Given the description of an element on the screen output the (x, y) to click on. 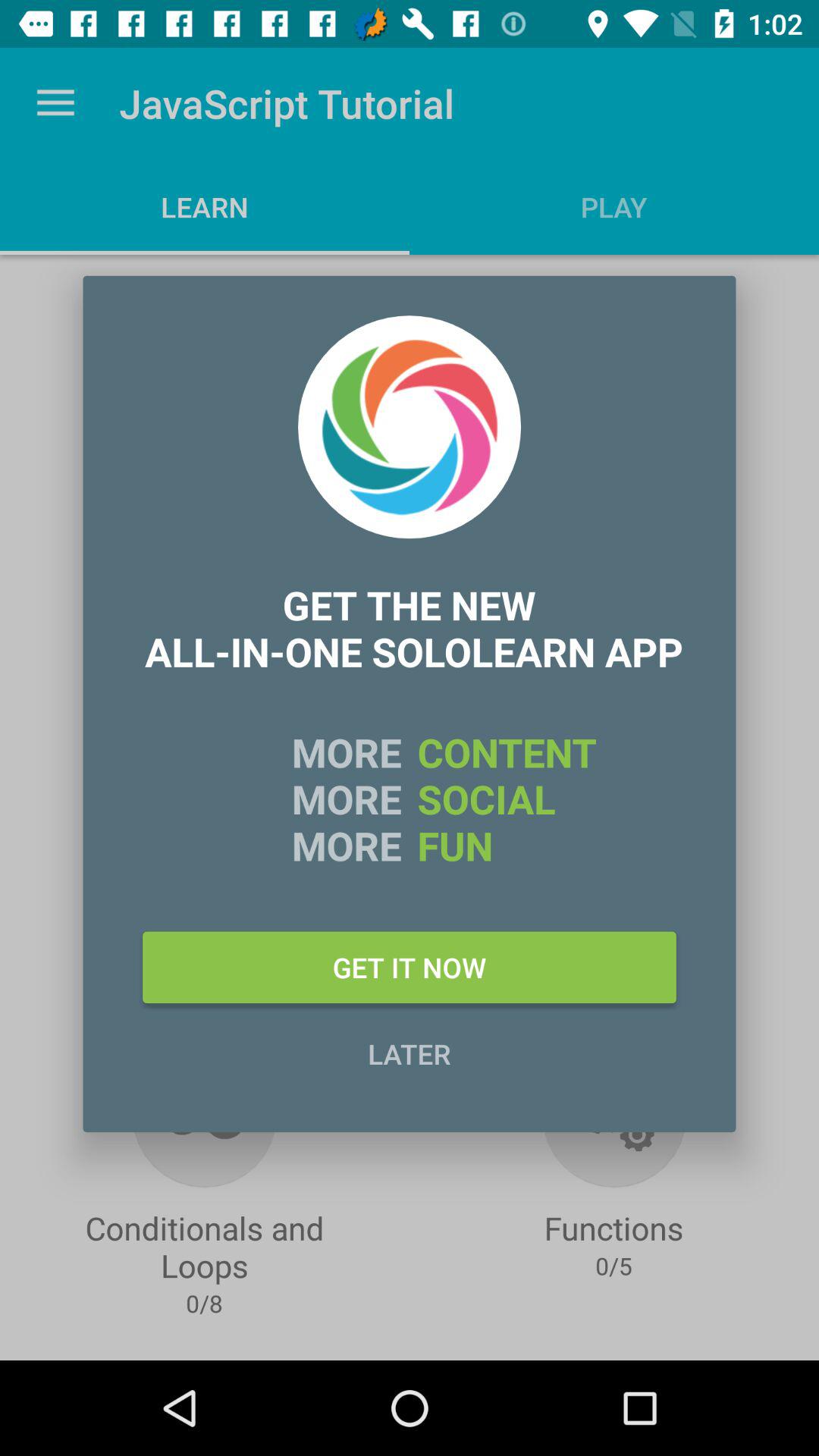
click item below the get it now item (409, 1053)
